Given the description of an element on the screen output the (x, y) to click on. 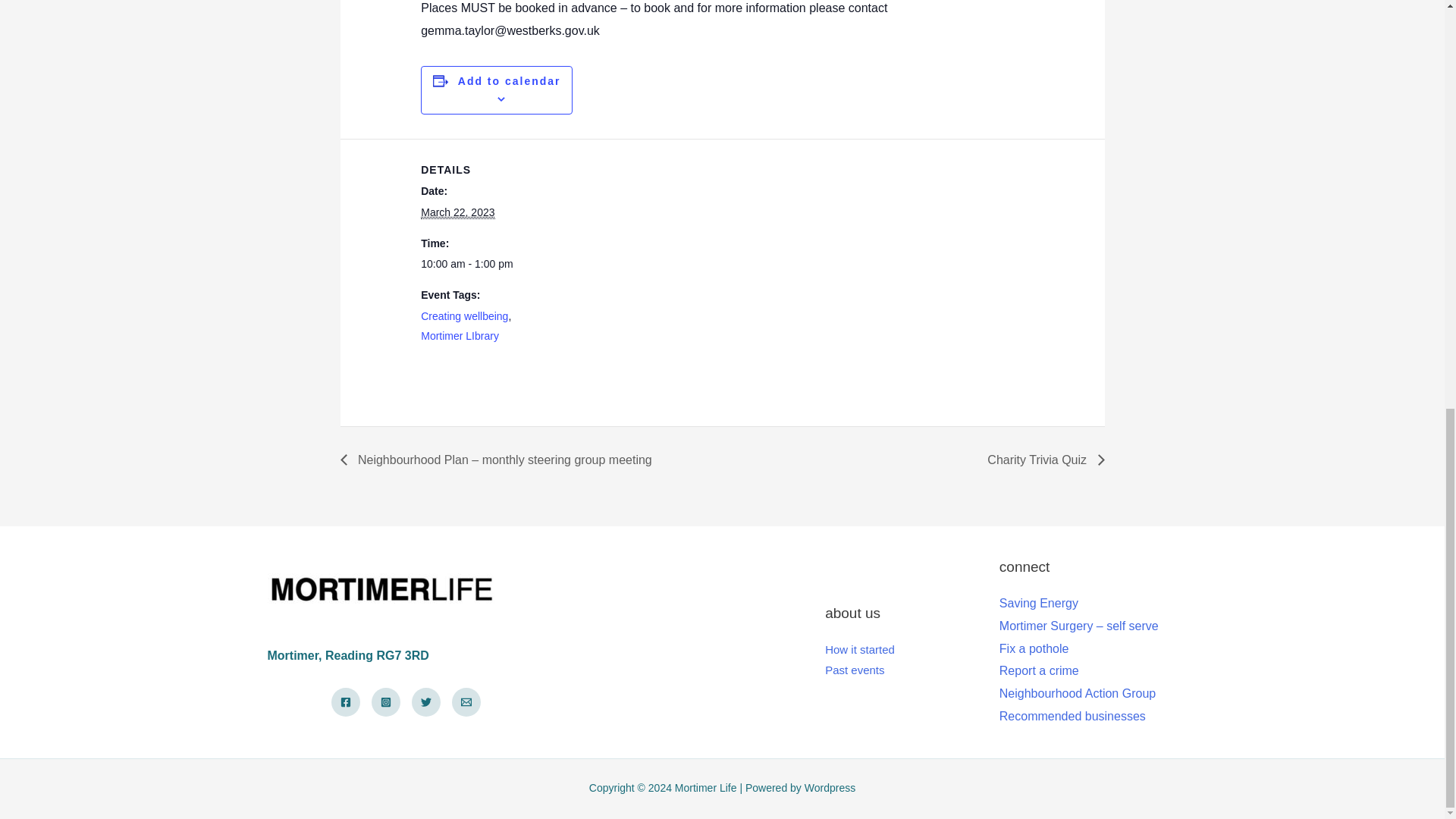
2023-03-22 (484, 264)
2023-03-22 (457, 212)
How it started (860, 649)
Charity Trivia Quiz (1040, 459)
Mortimer LIbrary (459, 336)
Past events (854, 669)
Add to calendar (509, 80)
Creating wellbeing (464, 316)
Saving Energy (1038, 603)
